Given the description of an element on the screen output the (x, y) to click on. 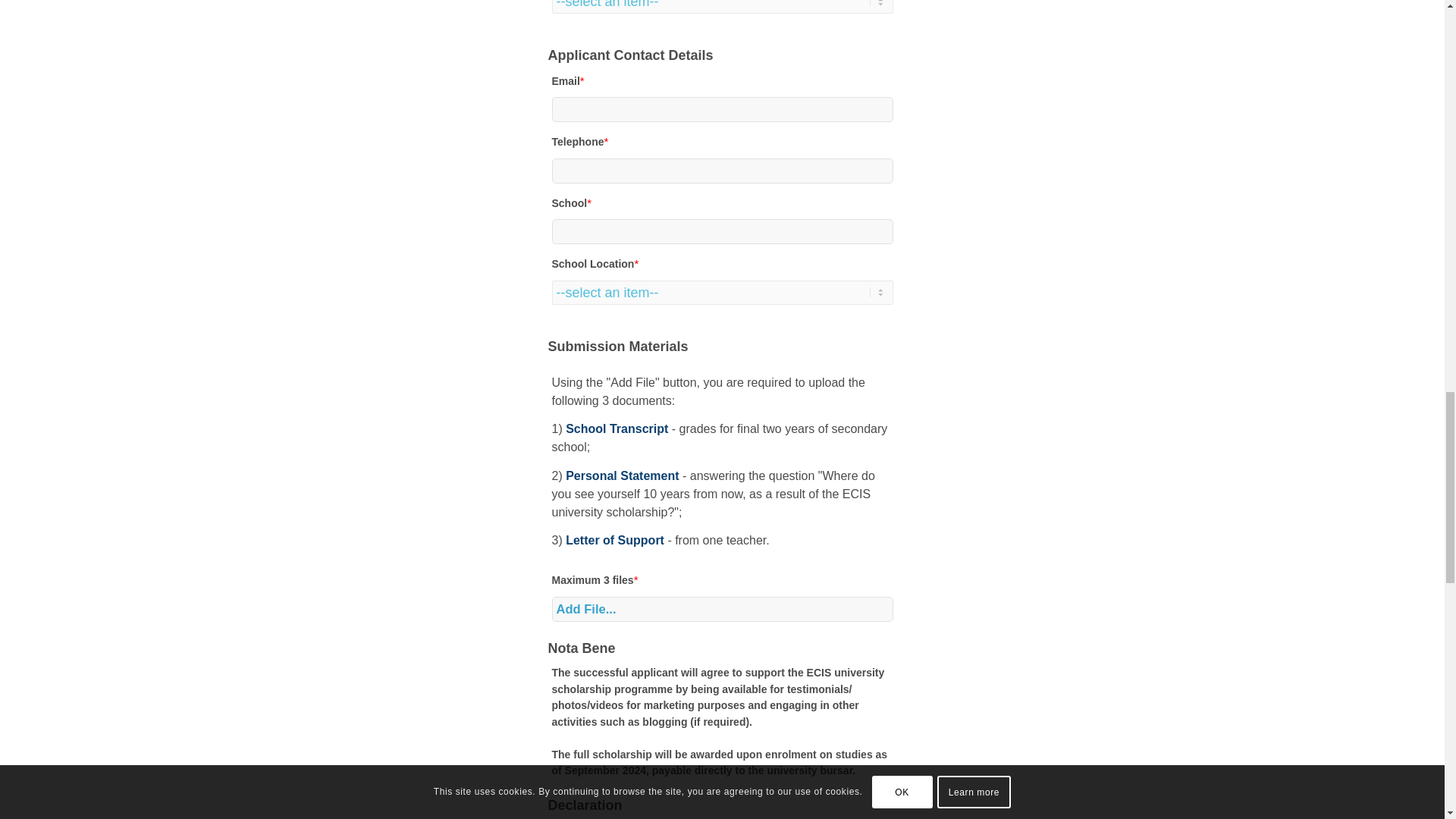
File Upload (721, 594)
